Given the description of an element on the screen output the (x, y) to click on. 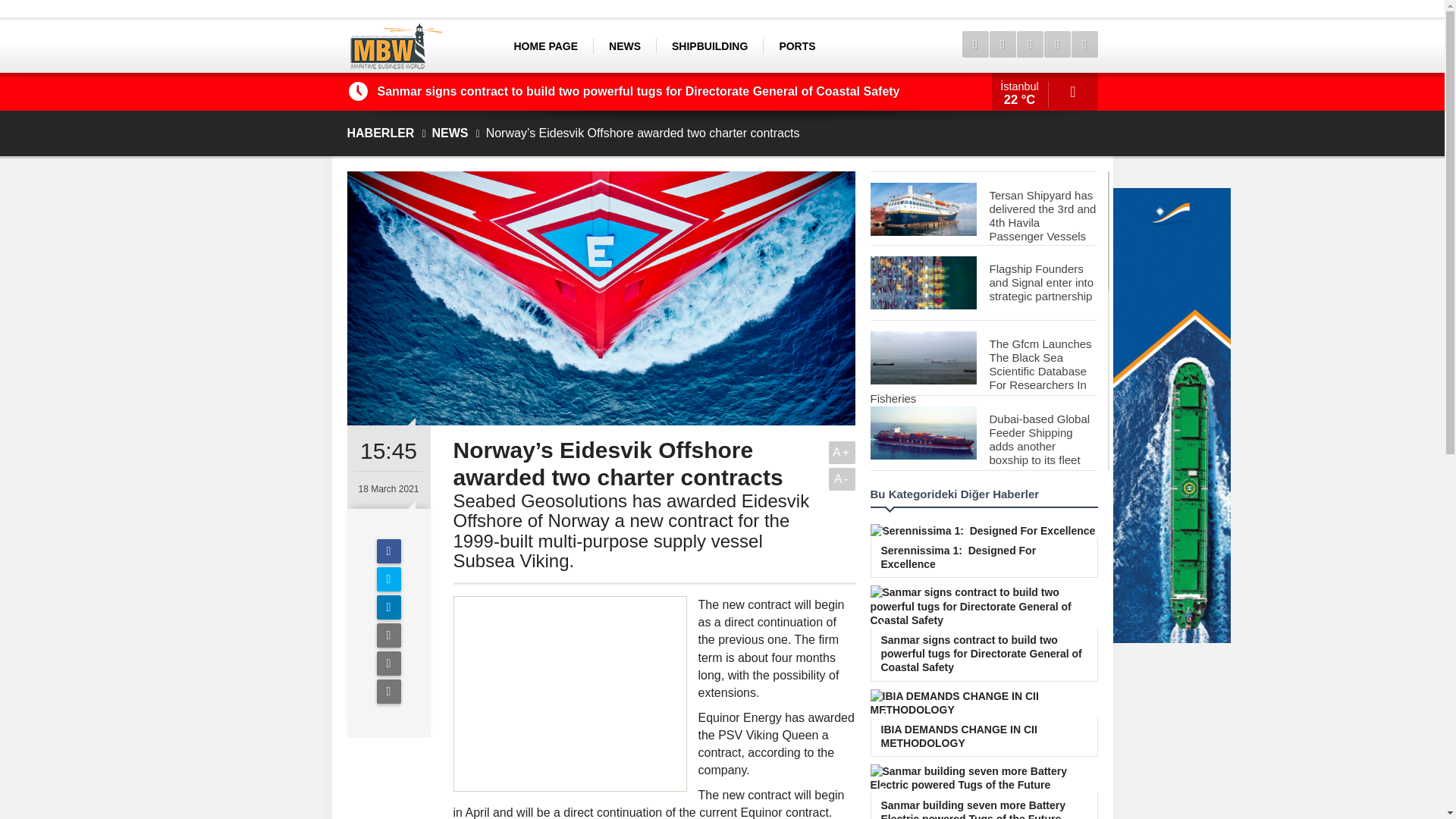
PORTS (795, 46)
Facebook (387, 550)
Foto Galeri (1029, 44)
SHIPBUILDING (709, 46)
Hava durumu (1044, 91)
Twitter (387, 579)
HOME PAGE (546, 46)
Menu (974, 44)
NEWS (624, 46)
